Given the description of an element on the screen output the (x, y) to click on. 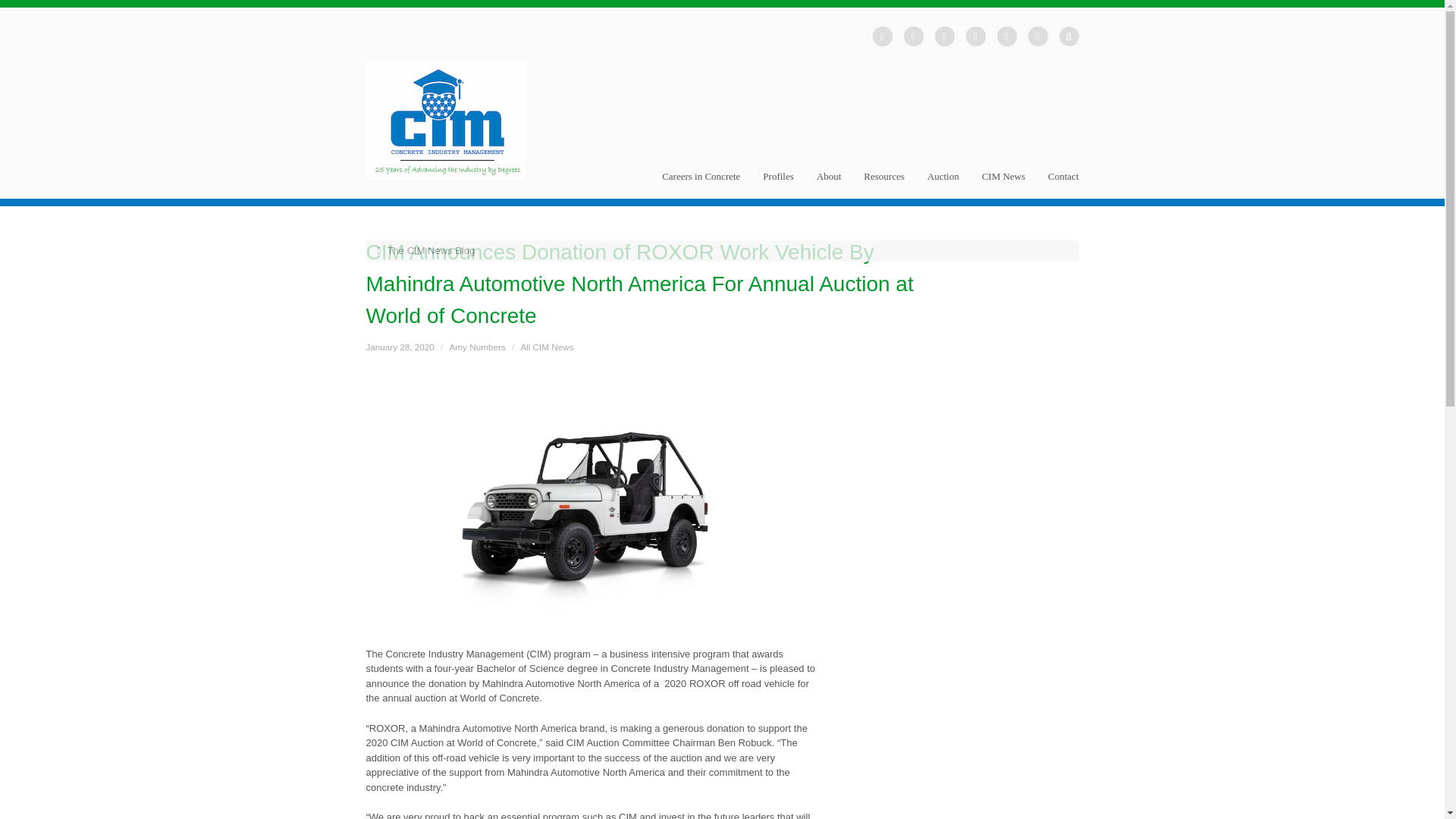
CIM News (1003, 185)
Auction (943, 185)
Resources (883, 185)
About (829, 185)
Profiles (778, 185)
Careers in Concrete (700, 185)
Posts by Amy Numbers (477, 347)
CIM (444, 119)
Contact (1062, 185)
